Given the description of an element on the screen output the (x, y) to click on. 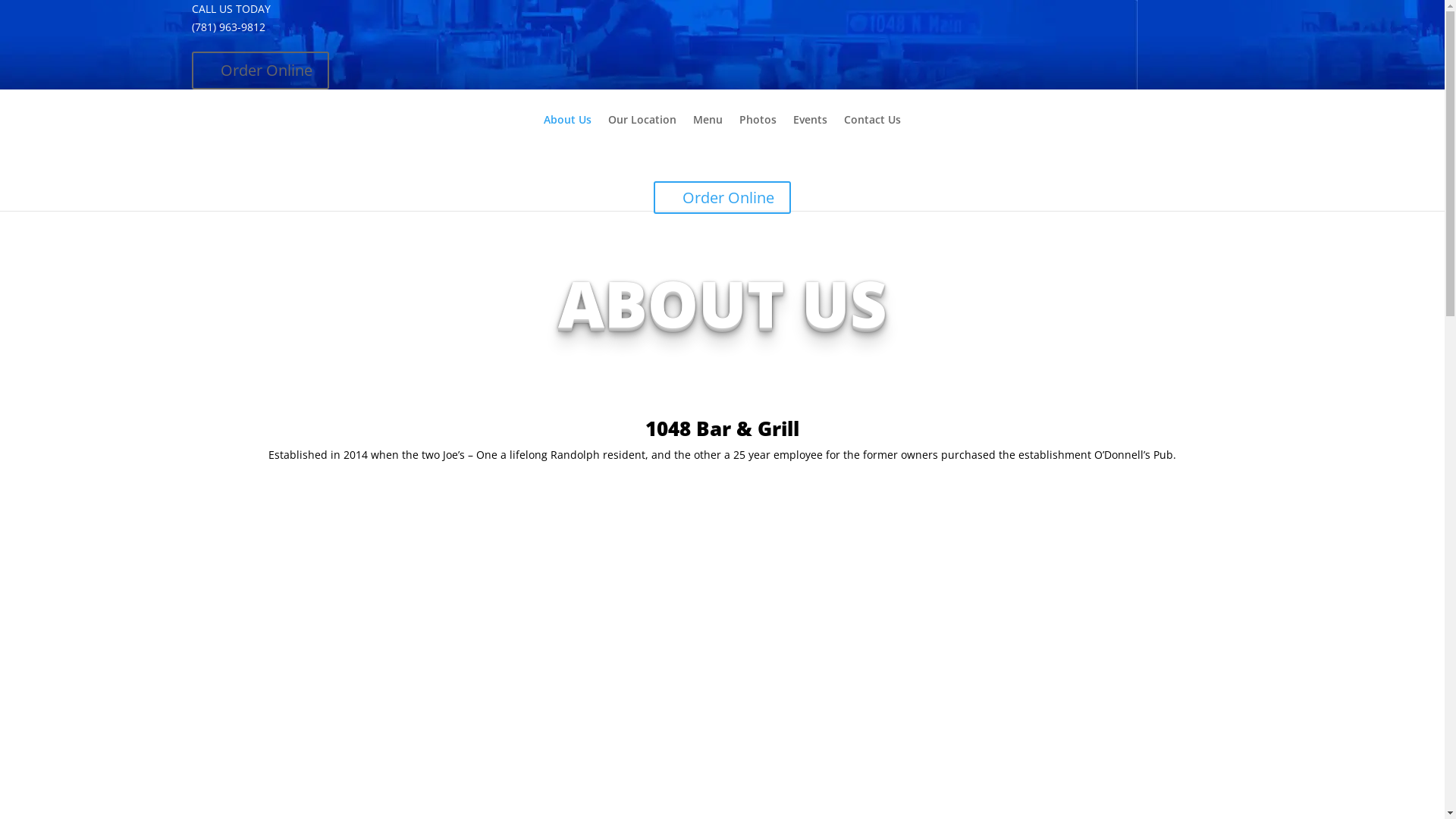
Contact Us Element type: text (872, 132)
Order Online Element type: text (259, 70)
(781) 963-9812 Element type: text (227, 26)
Order Online Element type: text (721, 197)
Photos Element type: text (757, 132)
About Us Element type: text (567, 132)
Our Location Element type: text (642, 132)
Menu Element type: text (707, 132)
Events Element type: text (810, 132)
